Given the description of an element on the screen output the (x, y) to click on. 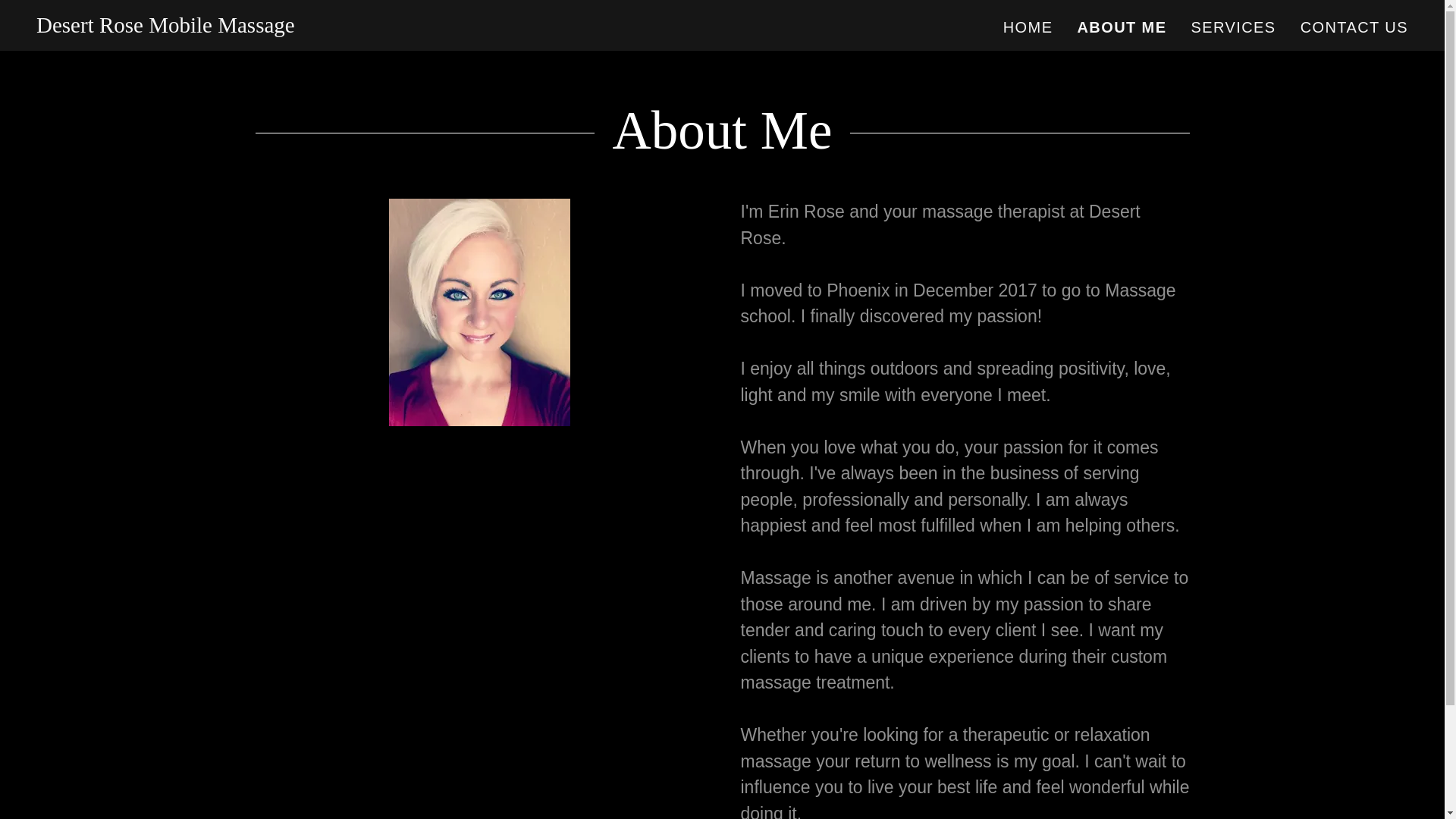
ABOUT ME (1121, 27)
CONTACT US (1353, 26)
Desert Rose Mobile Massage (165, 26)
SERVICES (1232, 26)
HOME (1028, 26)
Desert Rose Mobile Massage  (165, 26)
